Given the description of an element on the screen output the (x, y) to click on. 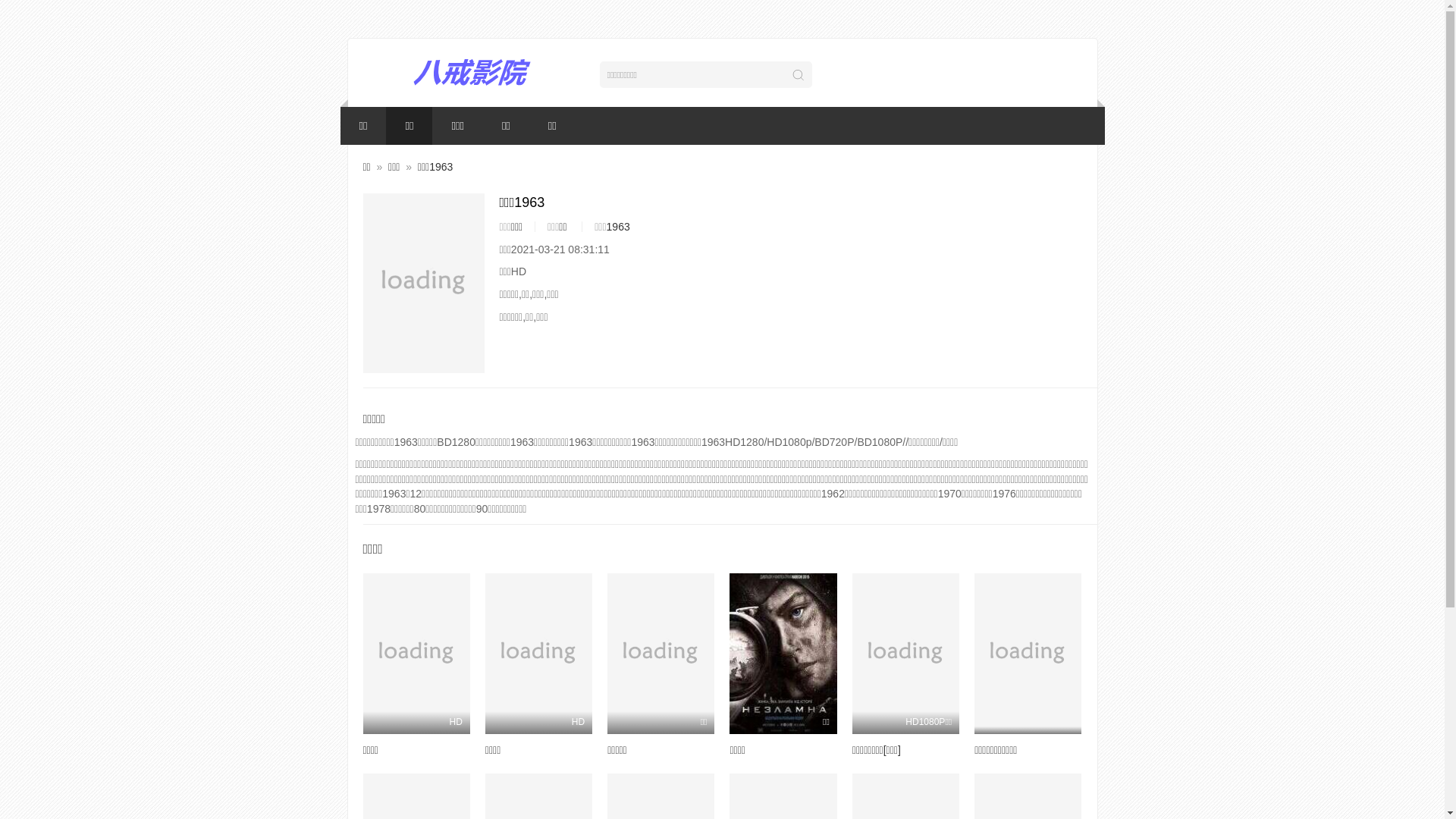
1963 Element type: text (618, 226)
HD Element type: text (415, 653)
HD Element type: text (538, 653)
